Given the description of an element on the screen output the (x, y) to click on. 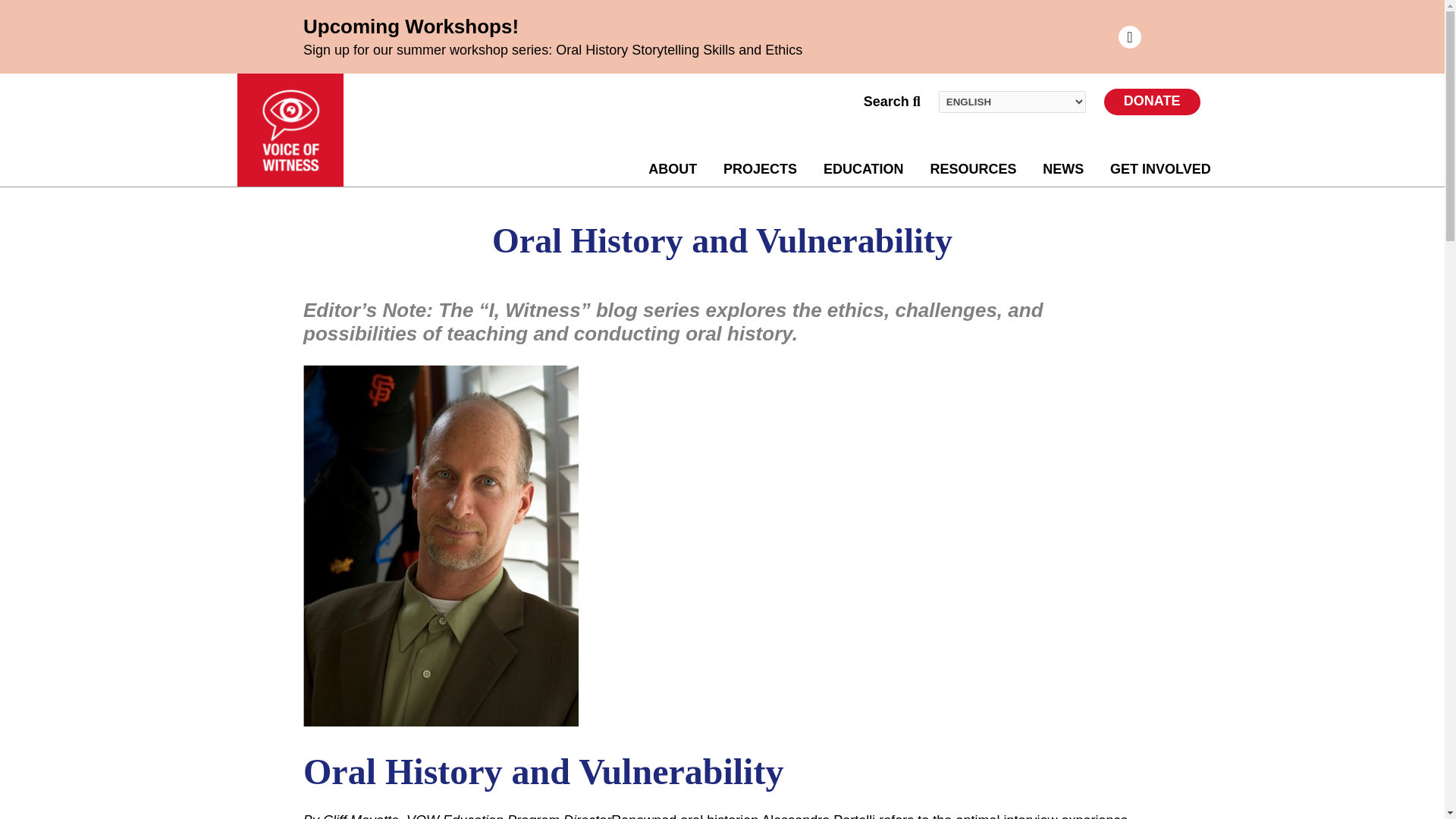
PROJECTS (759, 169)
EDUCATION (863, 169)
ABOUT (672, 169)
DONATE (1151, 101)
RESOURCES (972, 169)
GET INVOLVED (1161, 169)
NEWS (1062, 169)
Search (891, 101)
Close Alert (1129, 36)
